Given the description of an element on the screen output the (x, y) to click on. 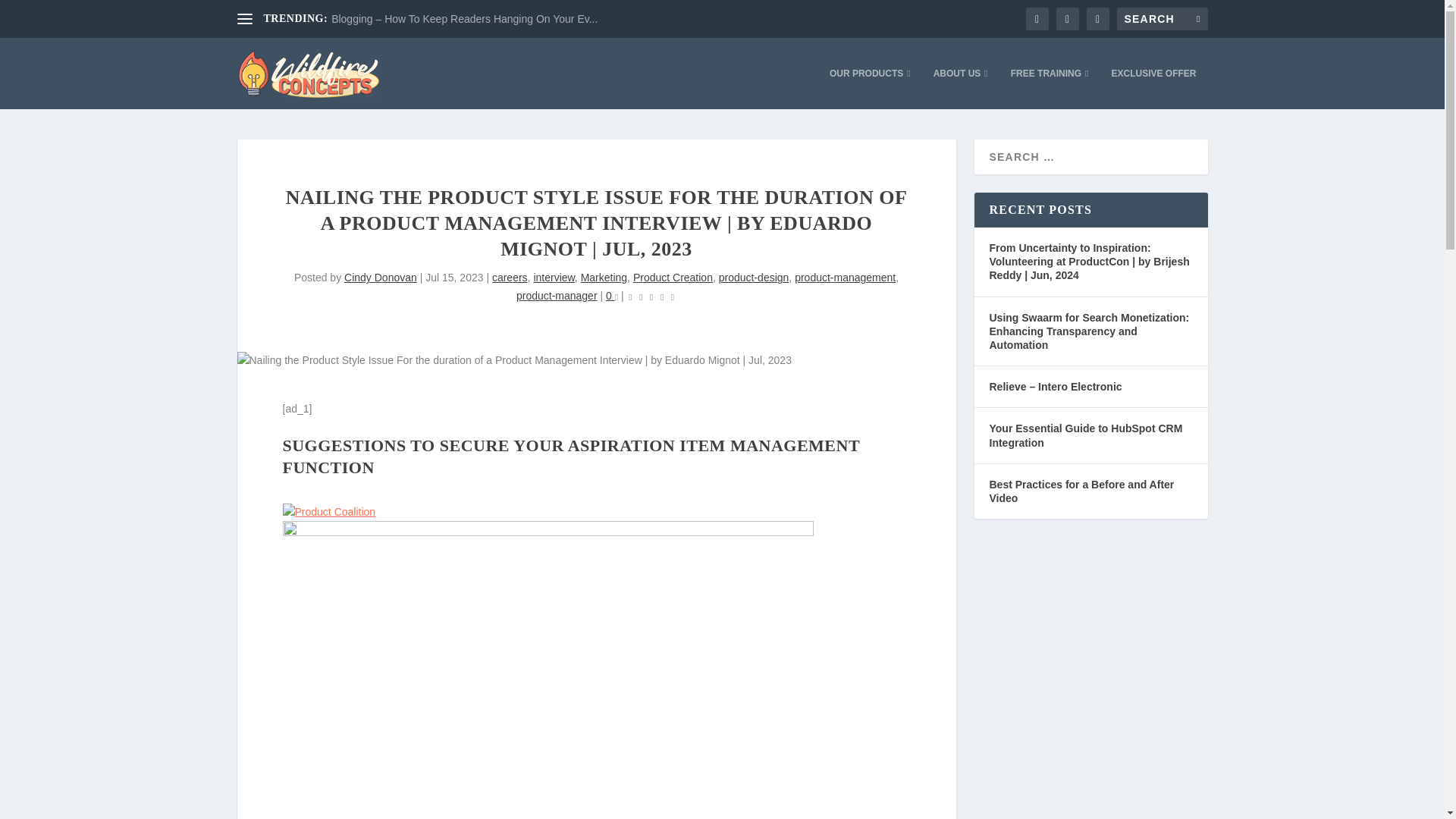
FREE TRAINING (1049, 87)
ABOUT US (960, 87)
OUR PRODUCTS (870, 87)
Search for: (1161, 18)
Posts by Cindy Donovan (379, 277)
Rating: 0.00 (651, 296)
